Given the description of an element on the screen output the (x, y) to click on. 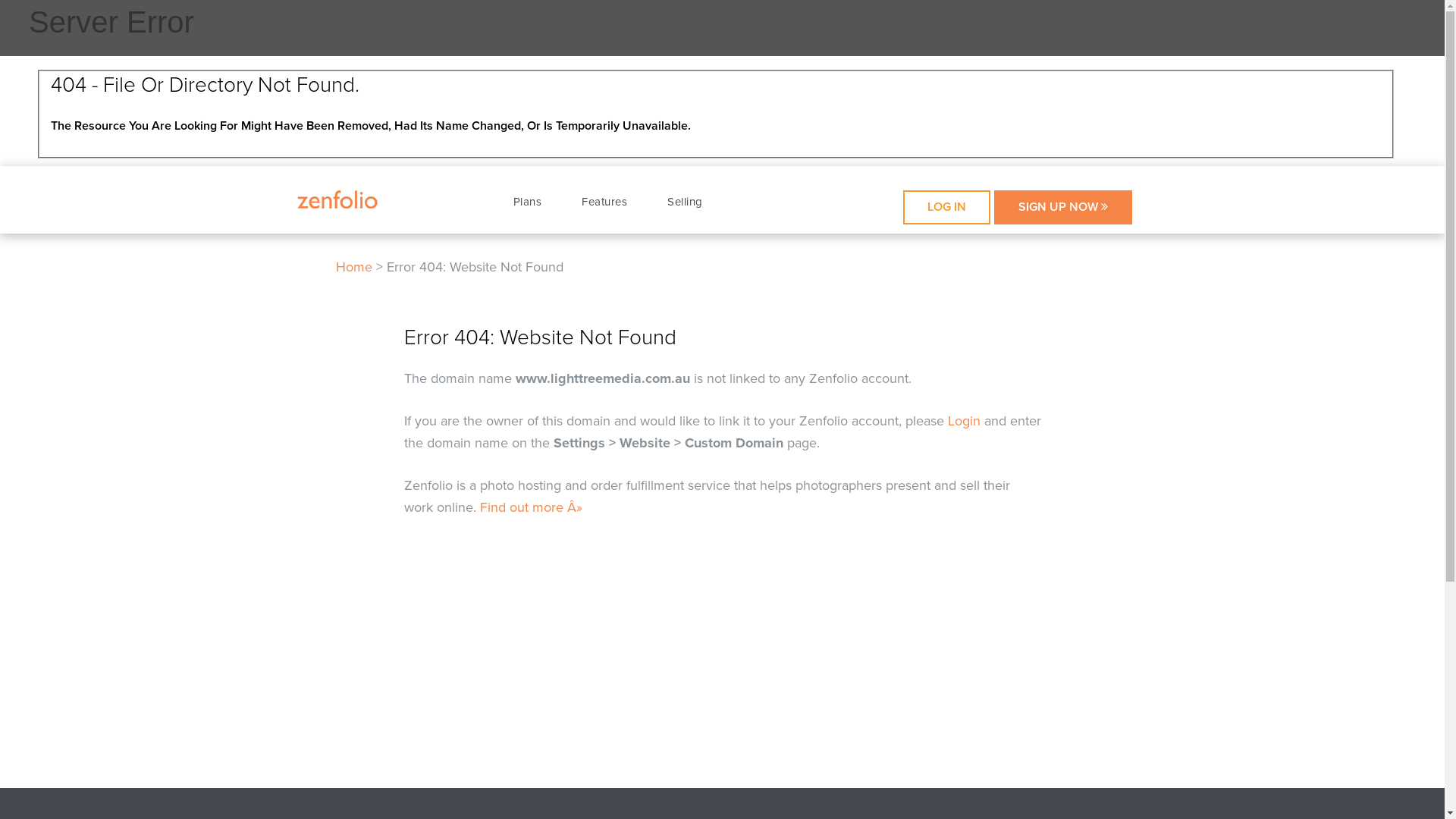
SIGN UP NOW Element type: text (1062, 207)
LOG IN Element type: text (945, 207)
Login Element type: text (963, 420)
Selling Element type: text (684, 201)
Home Element type: text (353, 266)
Features Element type: text (604, 201)
Plans Element type: text (526, 201)
